Given the description of an element on the screen output the (x, y) to click on. 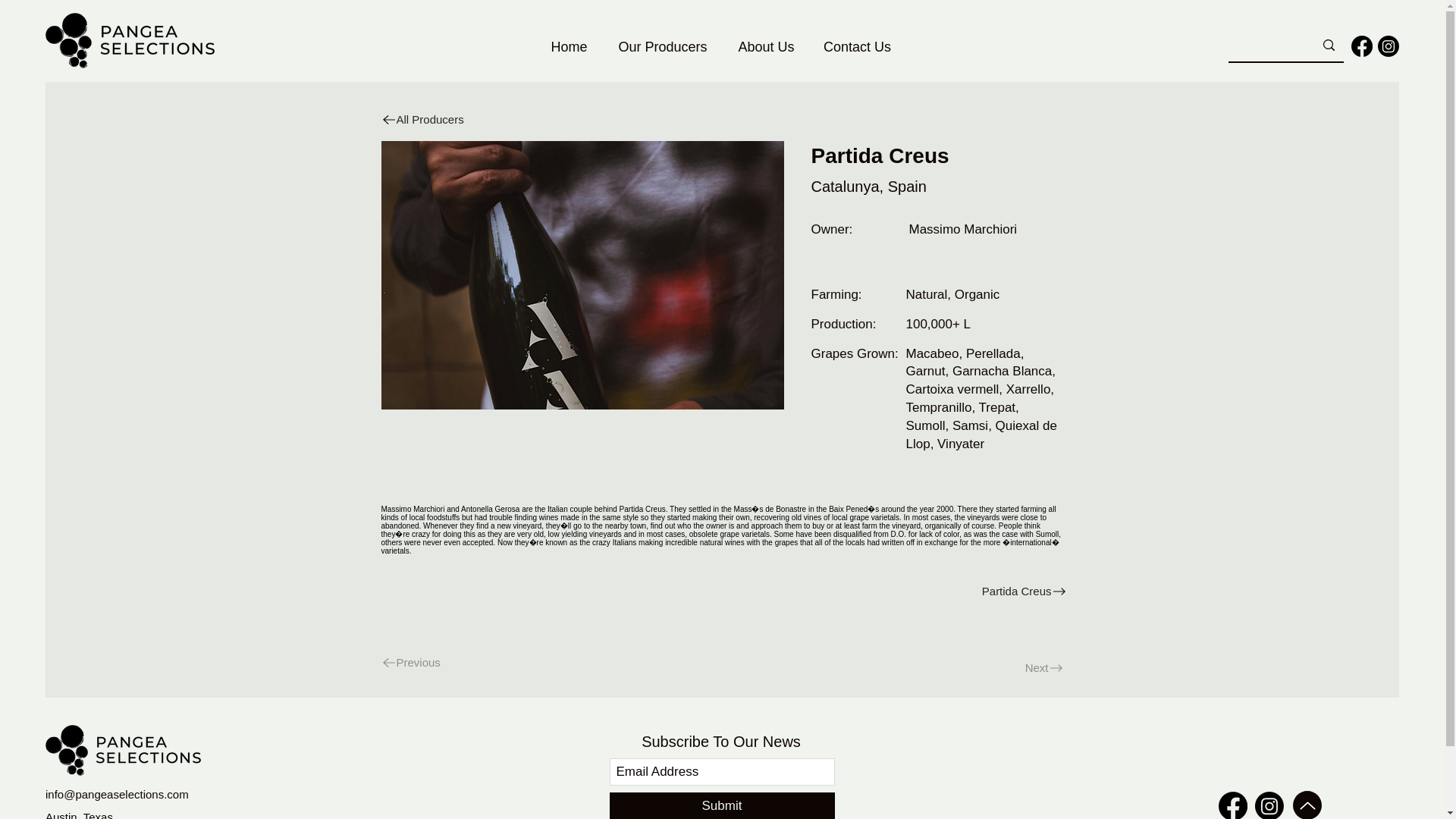
Home (569, 47)
Next (1015, 667)
About Us (765, 47)
Screen Shot 2024-02-15 at 8.08.02 AM.png (581, 274)
Previous (440, 662)
Submit (722, 805)
Contact Us (856, 47)
All Producers (440, 119)
Our Producers (662, 47)
Partida Creus (898, 591)
